Given the description of an element on the screen output the (x, y) to click on. 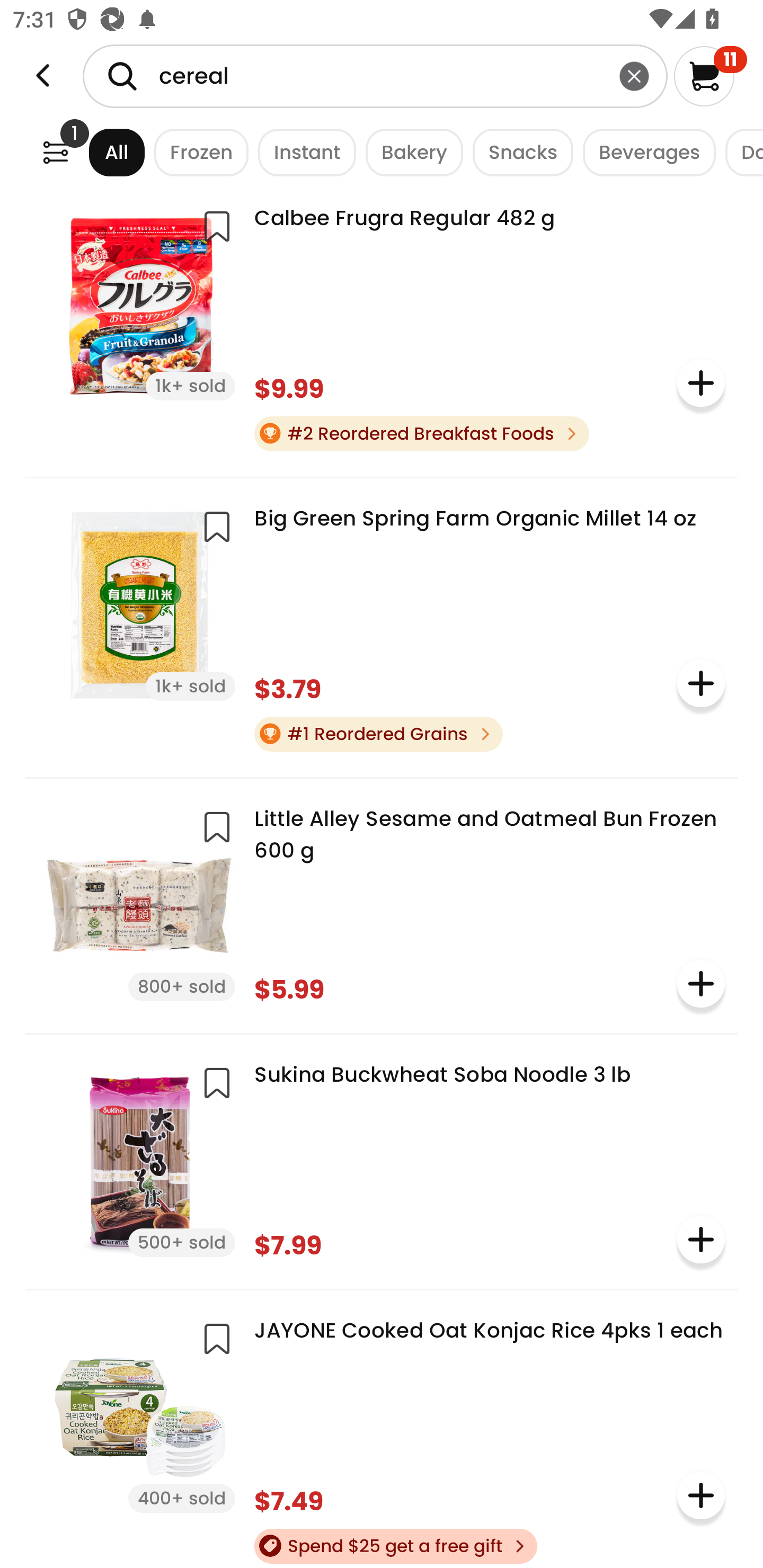
cereal (374, 75)
11 (709, 75)
Weee! (42, 76)
Weee! (55, 151)
All (99, 151)
Frozen (196, 151)
Instant (302, 151)
Bakery (409, 151)
Snacks (518, 151)
Beverages (644, 151)
Sukina Buckwheat Soba Noodle 3 lb 500+ sold $7.99 (381, 1160)
